Given the description of an element on the screen output the (x, y) to click on. 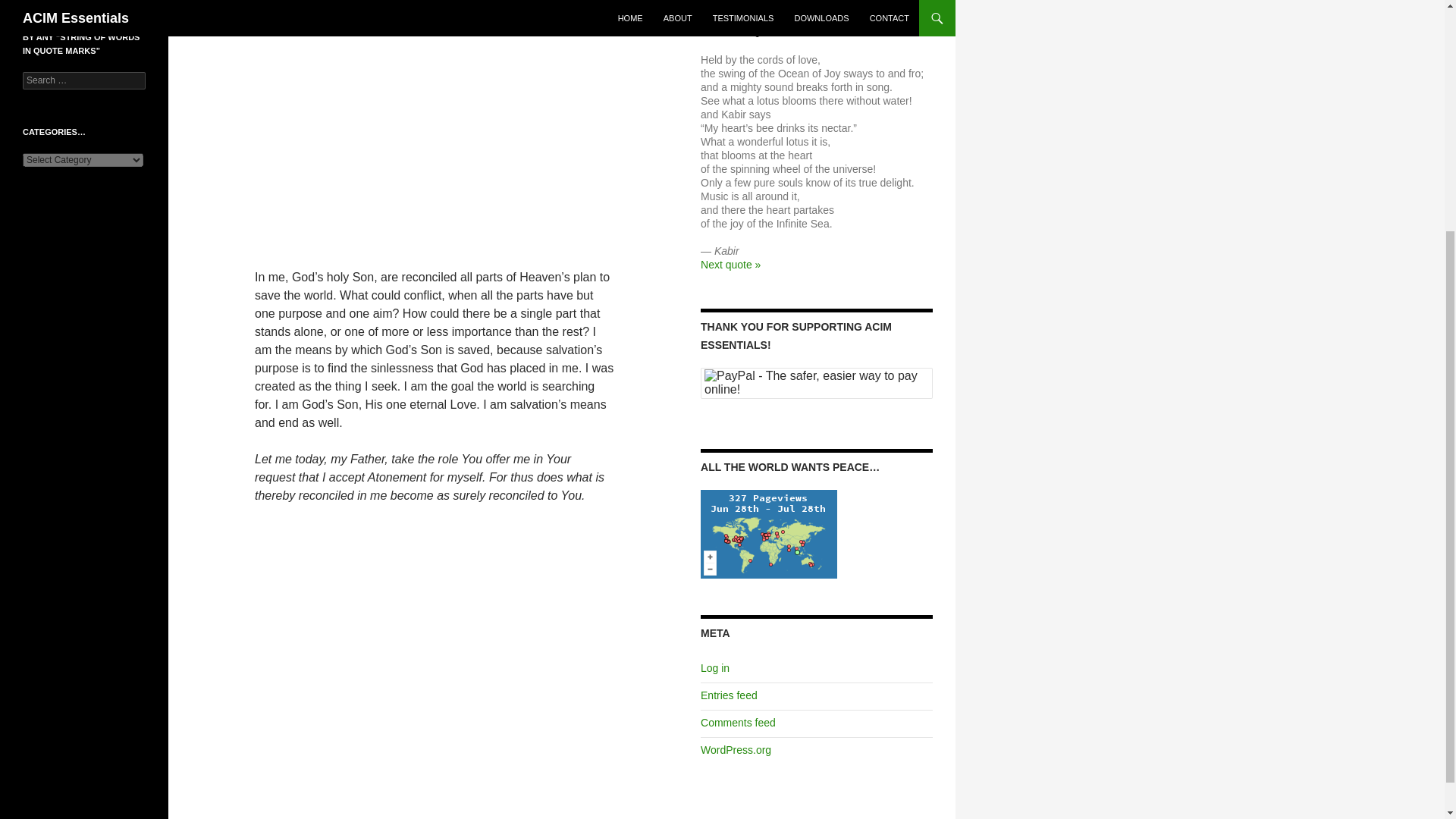
Comments feed (738, 722)
Locations of visitors to this page (768, 533)
Log in (714, 667)
ACIM Lesson 318 - In me salvations means and end are one (434, 122)
WordPress.org (735, 749)
Entries feed (728, 695)
